Given the description of an element on the screen output the (x, y) to click on. 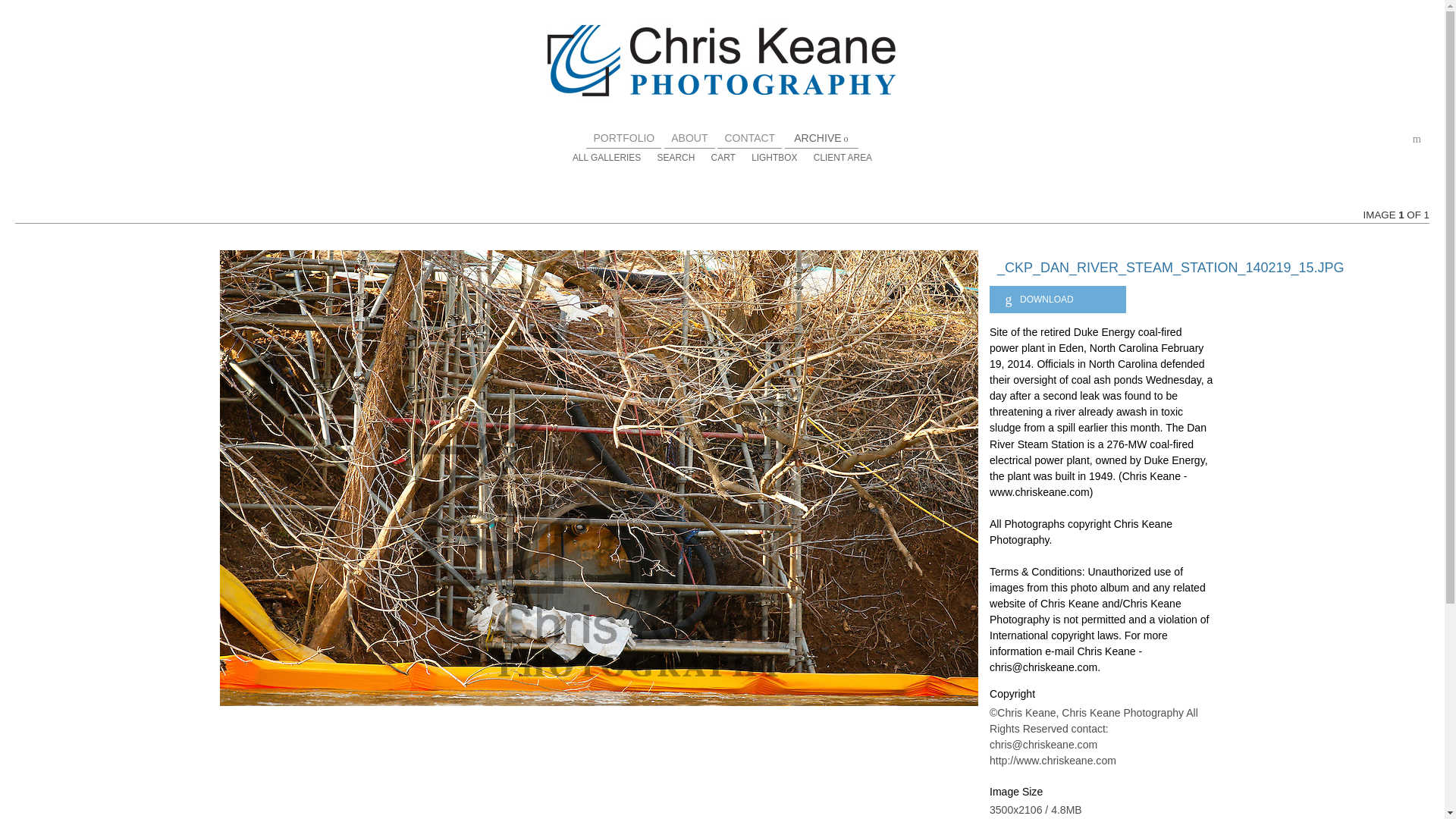
CLIENT AREA (842, 157)
ALL GALLERIES (606, 157)
PORTFOLIO (622, 137)
DOWNLOAD (1057, 298)
CHRIS KEANE PHOTOGRAPHY (721, 73)
LIGHTBOX (773, 157)
Chris Keane Photography (721, 73)
CART (723, 157)
ABOUT (689, 137)
SEARCH (676, 157)
